Given the description of an element on the screen output the (x, y) to click on. 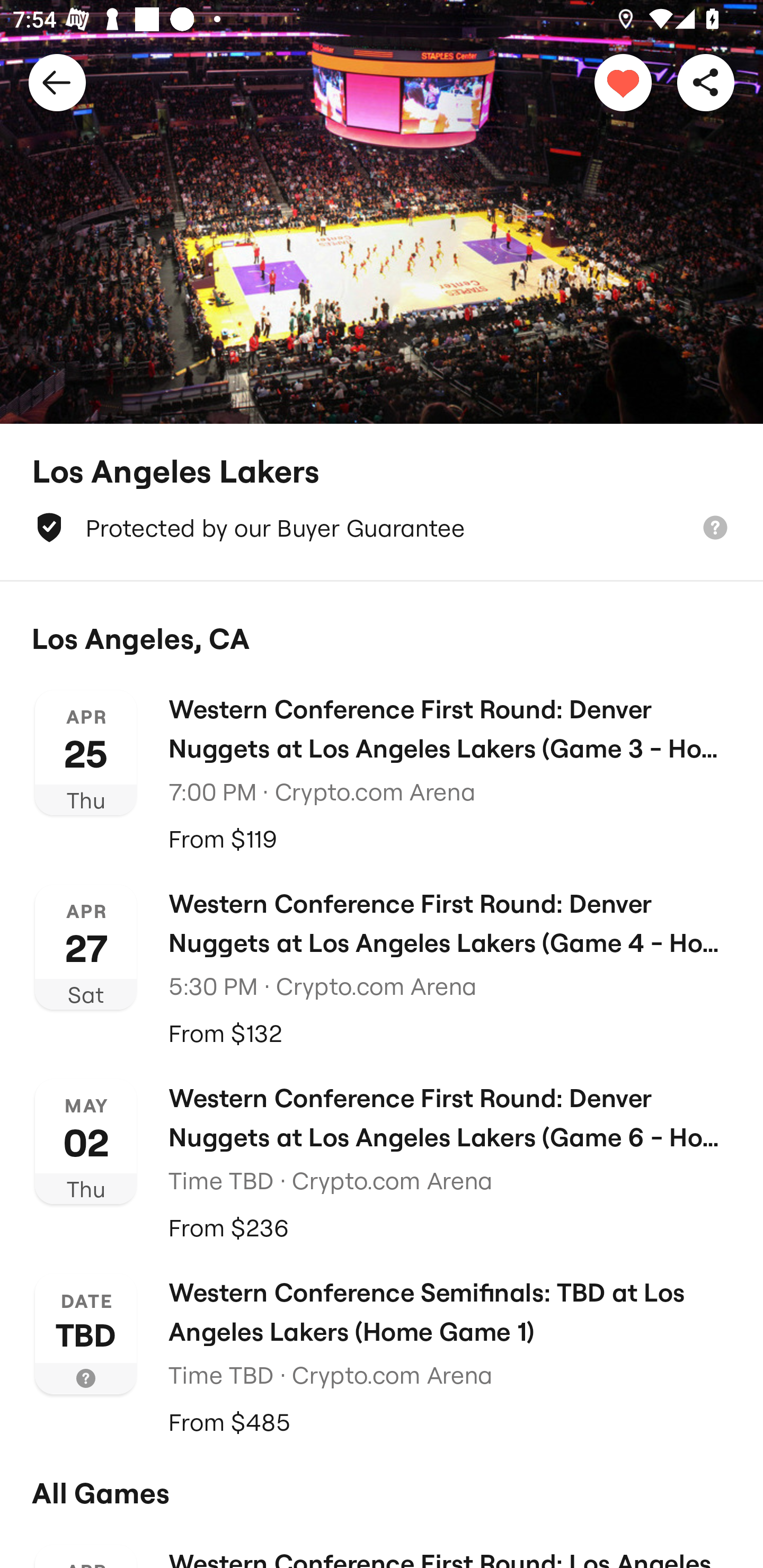
Back (57, 81)
Track this performer (623, 81)
Share this performer (705, 81)
Protected by our Buyer Guarantee Learn more (381, 527)
DATE TBD Learn more (85, 1333)
